Given the description of an element on the screen output the (x, y) to click on. 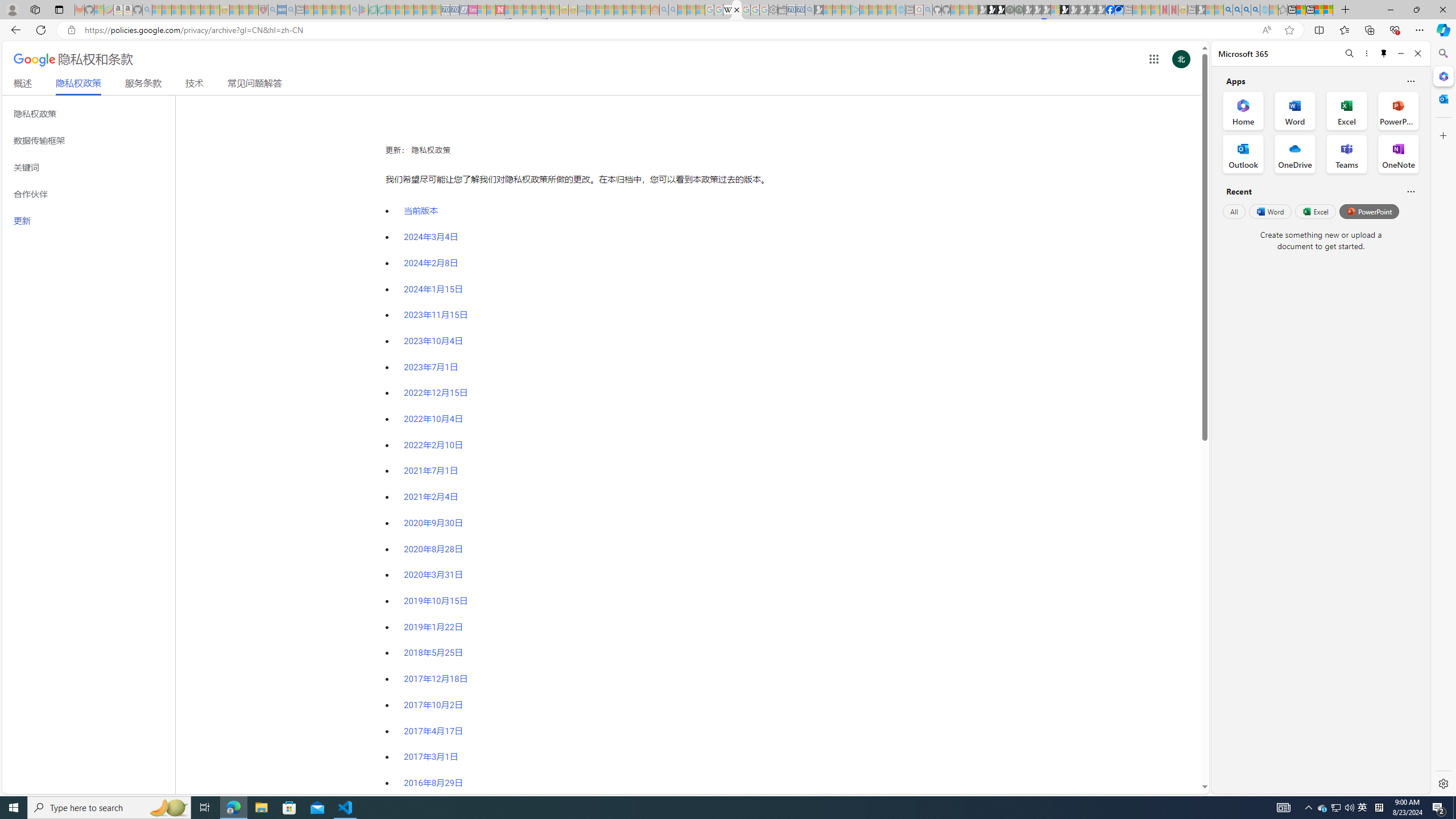
AirNow.gov (1118, 9)
utah sues federal government - Search - Sleeping (290, 9)
2009 Bing officially replaced Live Search on June 3 - Search (1236, 9)
